Given the description of an element on the screen output the (x, y) to click on. 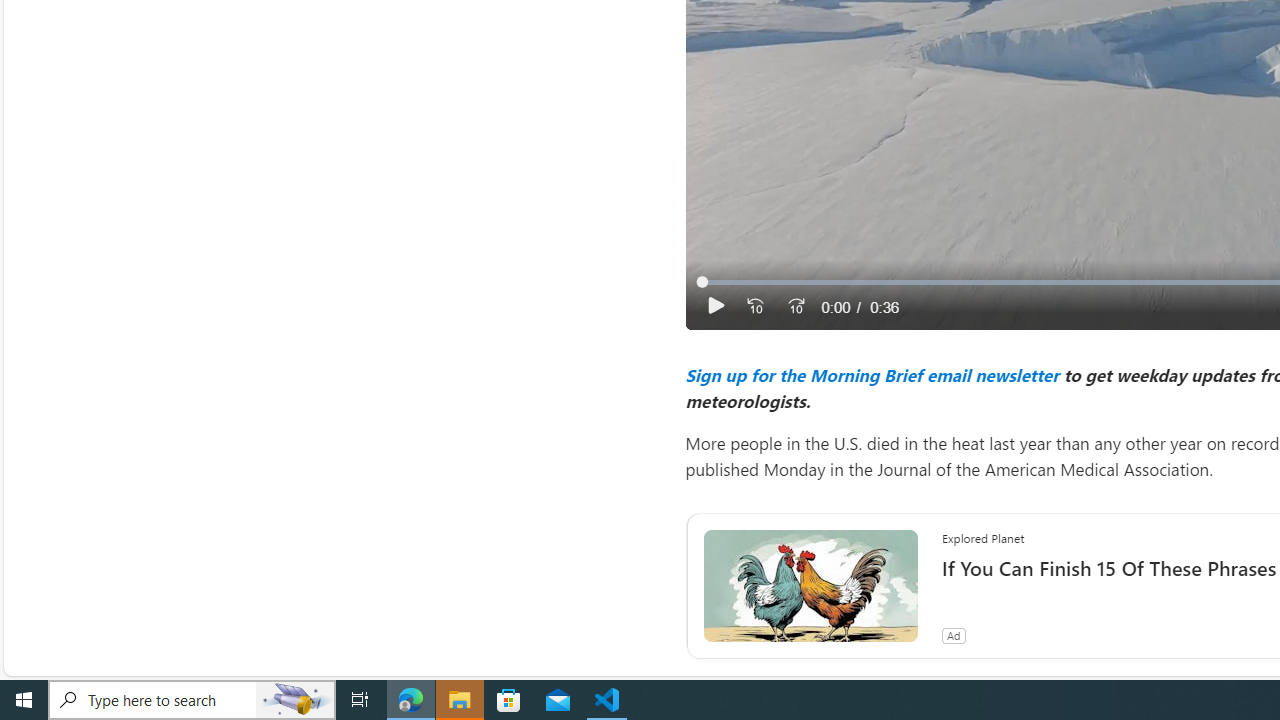
Sign up for the Morning Brief email newsletter (871, 373)
Play (715, 306)
Seek Forward (795, 306)
Seek Back (754, 306)
